Given the description of an element on the screen output the (x, y) to click on. 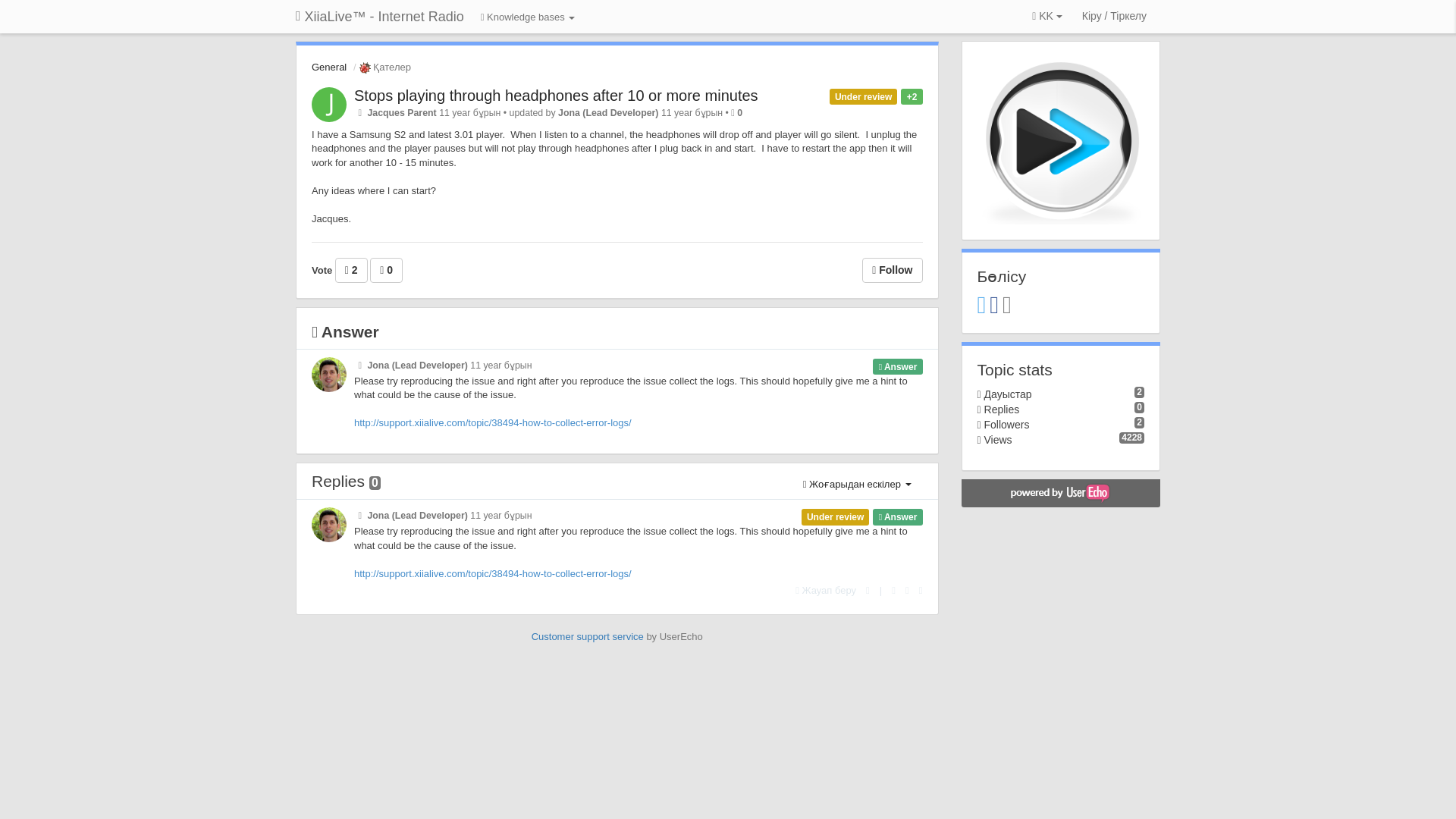
via Forum (359, 365)
General (328, 66)
Flag the message (867, 590)
via Forum (359, 112)
via Forum (359, 515)
Jacques Parent (400, 112)
Stops playing through headphones after 10 or more minutes (555, 95)
KK (1047, 16)
-1 this topic (386, 270)
Knowledge bases (528, 17)
